Given the description of an element on the screen output the (x, y) to click on. 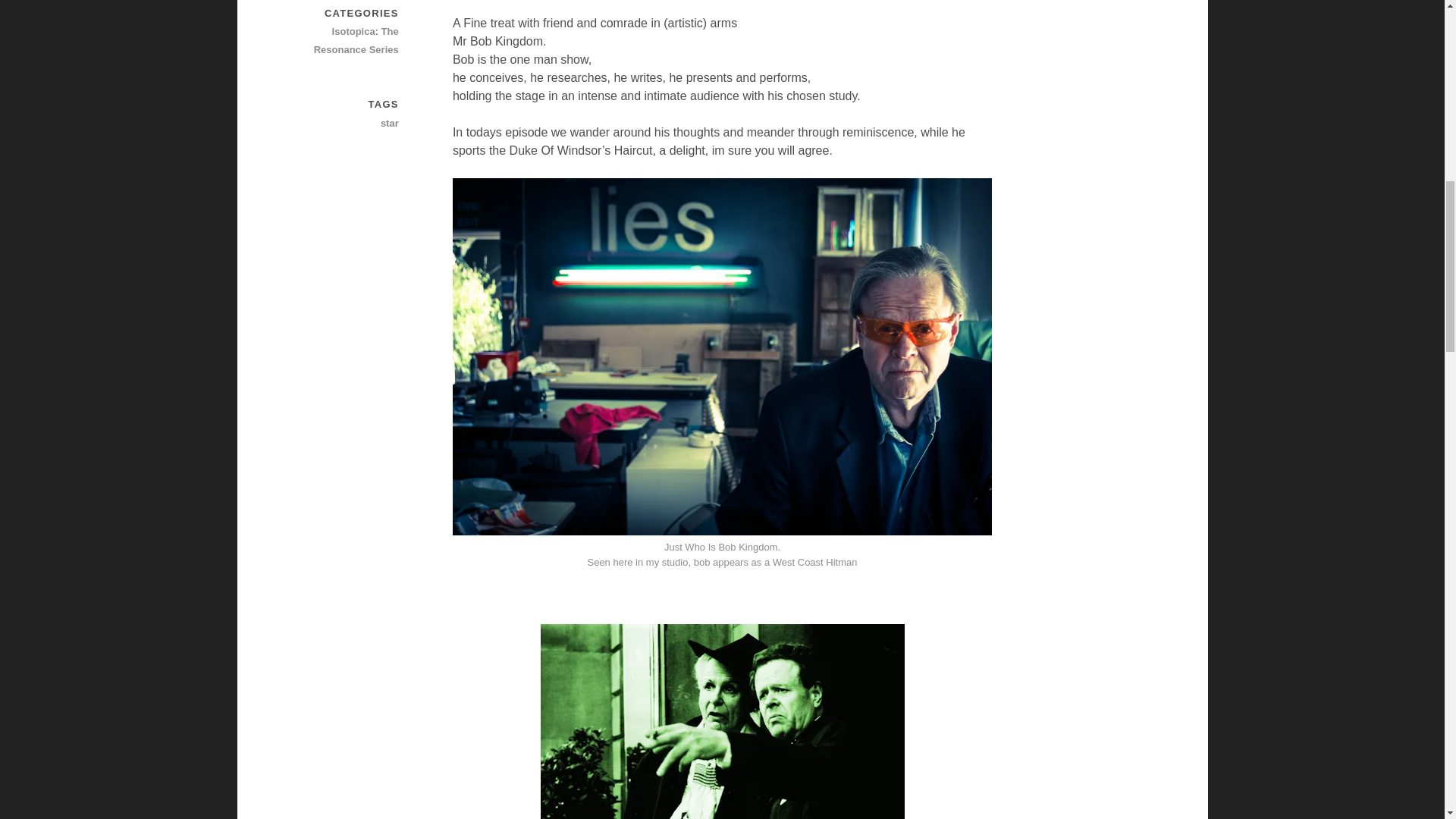
View all posts in Isotopica: The Resonance Series (344, 40)
star (344, 123)
Isotopica: The Resonance Series (344, 40)
View all posts tagged star (344, 123)
